Given the description of an element on the screen output the (x, y) to click on. 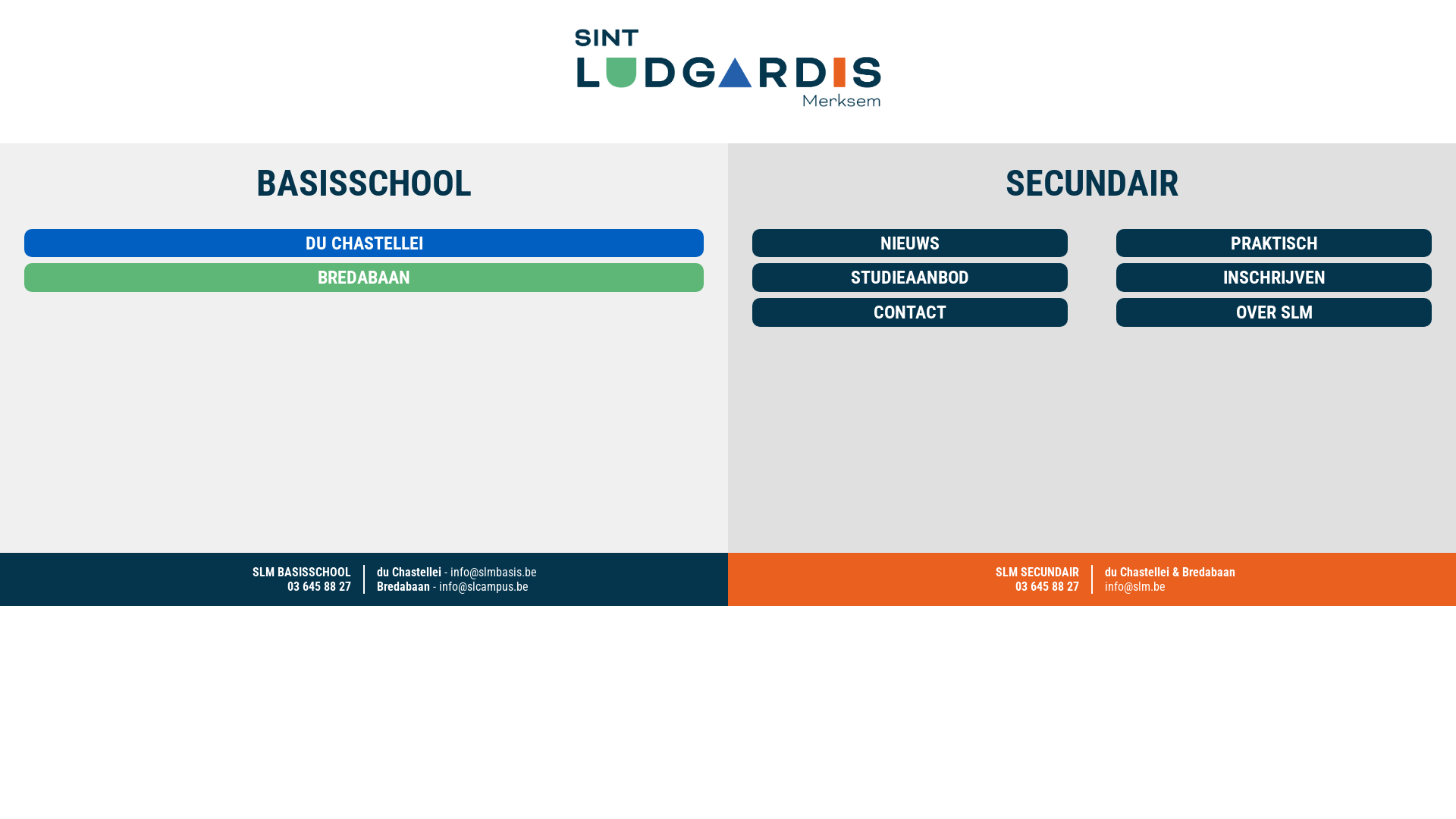
INSCHRIJVEN Element type: text (1273, 277)
PRAKTISCH Element type: text (1273, 243)
DU CHASTELLEI Element type: text (363, 243)
BREDABAAN Element type: text (363, 277)
NIEUWS Element type: text (909, 243)
STUDIEAANBOD Element type: text (909, 277)
OVER SLM Element type: text (1274, 312)
CONTACT Element type: text (909, 312)
